Given the description of an element on the screen output the (x, y) to click on. 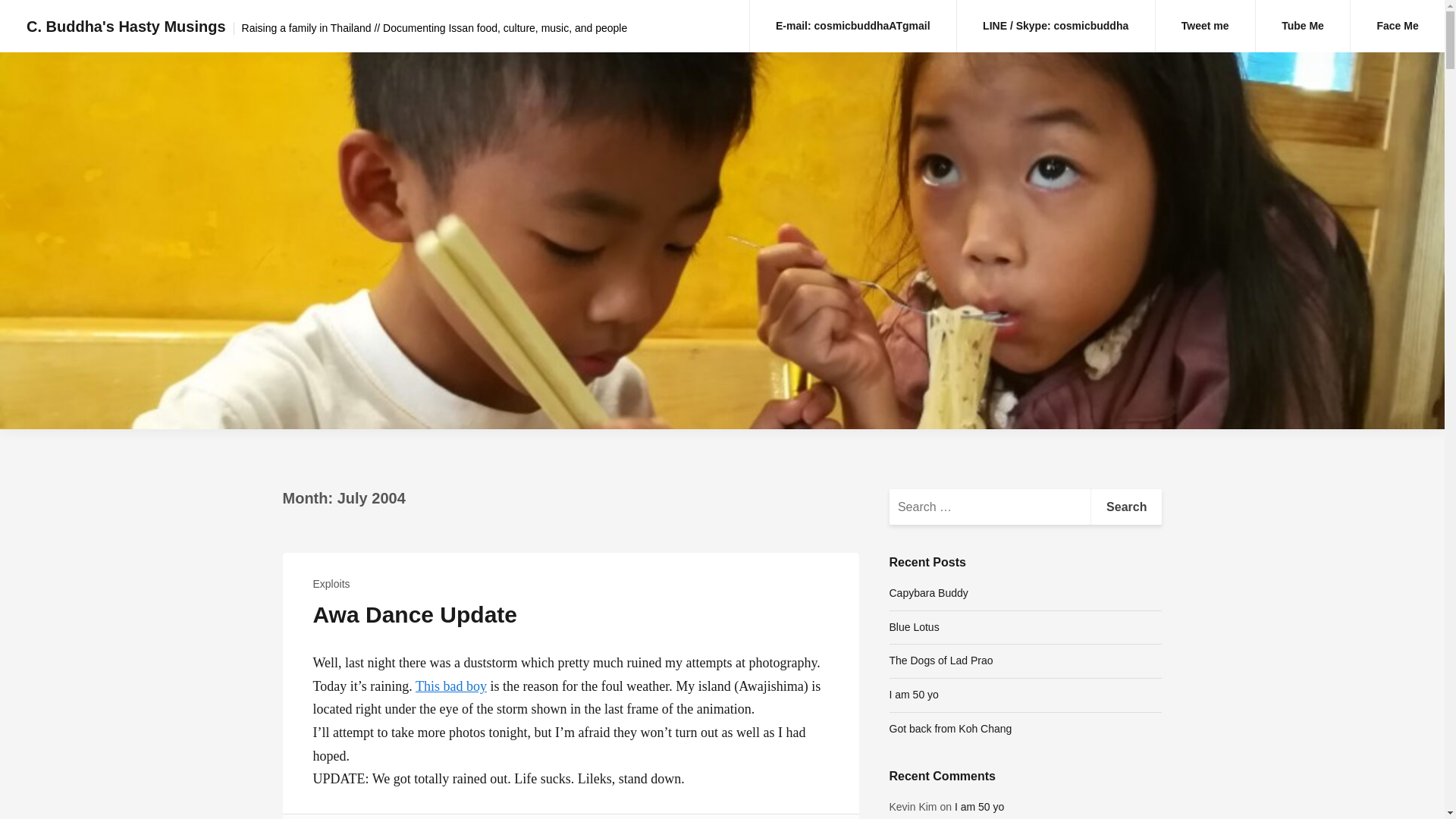
Awa Dance Update (414, 614)
C. Buddha's Hasty Musings (125, 26)
Tube Me (1302, 26)
Search (1125, 506)
Tweet me (1205, 26)
Exploits (331, 583)
Search (1125, 506)
E-mail: cosmicbuddhaATgmail (852, 26)
This bad boy (450, 685)
